Given the description of an element on the screen output the (x, y) to click on. 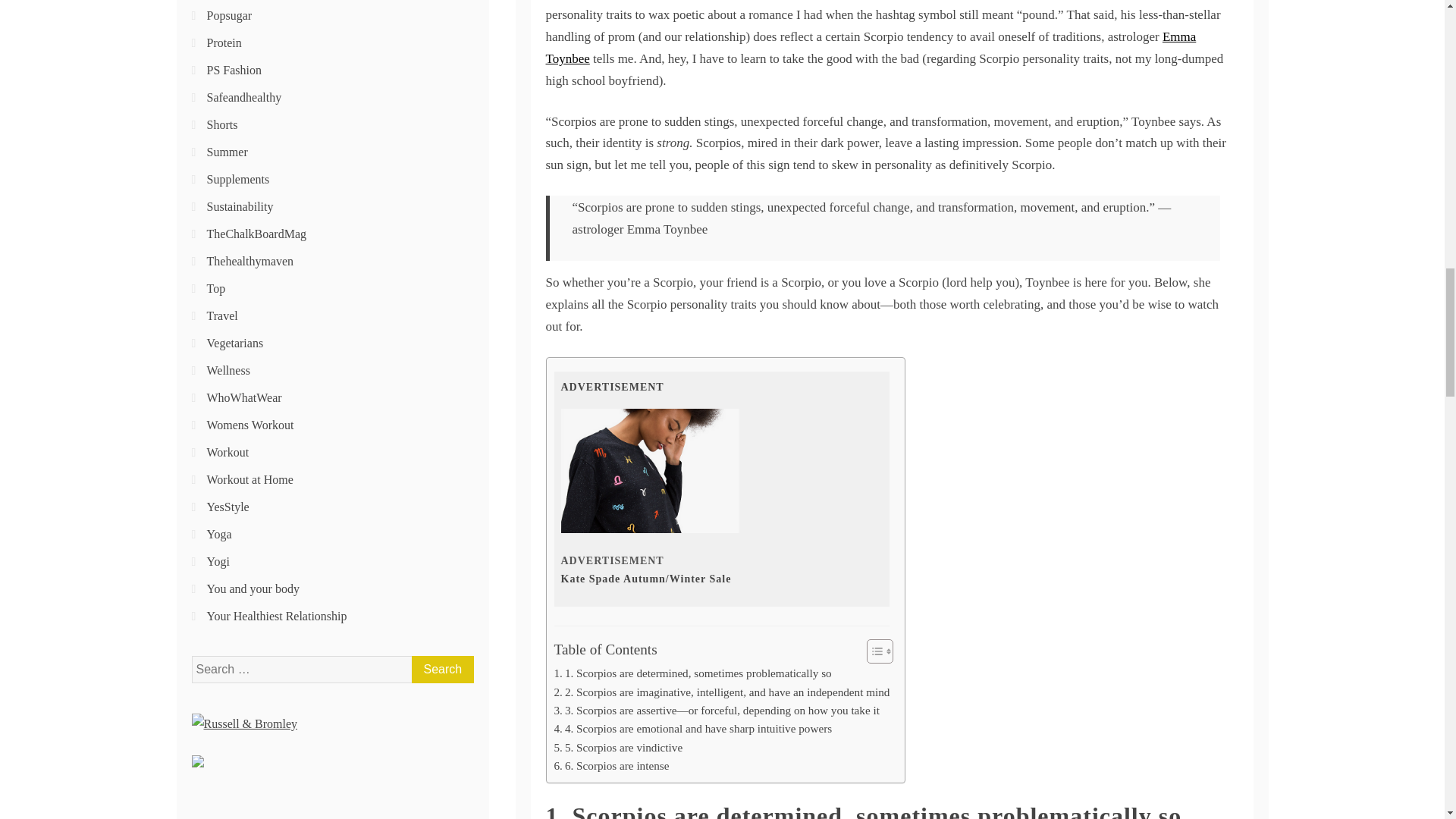
Search (441, 669)
1. Scorpios are determined, sometimes problematically so (692, 673)
4. Scorpios are emotional and have sharp intuitive powers (692, 728)
6. Scorpios are intense (610, 765)
Emma Toynbee (871, 47)
5. Scorpios are vindictive (617, 747)
Search (441, 669)
